Given the description of an element on the screen output the (x, y) to click on. 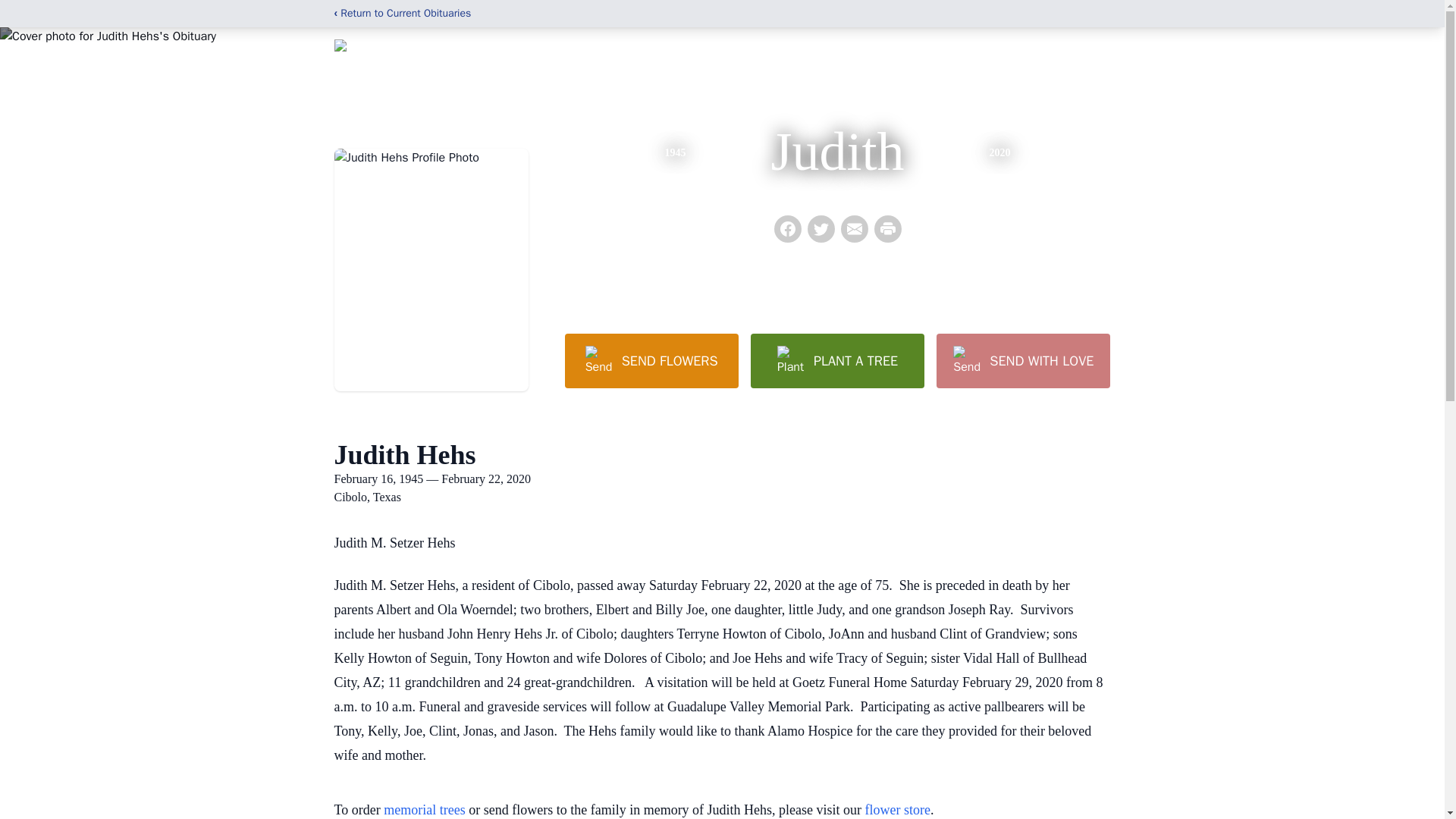
SEND FLOWERS (651, 360)
flower store (897, 809)
PLANT A TREE (837, 360)
memorial trees (424, 809)
SEND WITH LOVE (1022, 360)
